Given the description of an element on the screen output the (x, y) to click on. 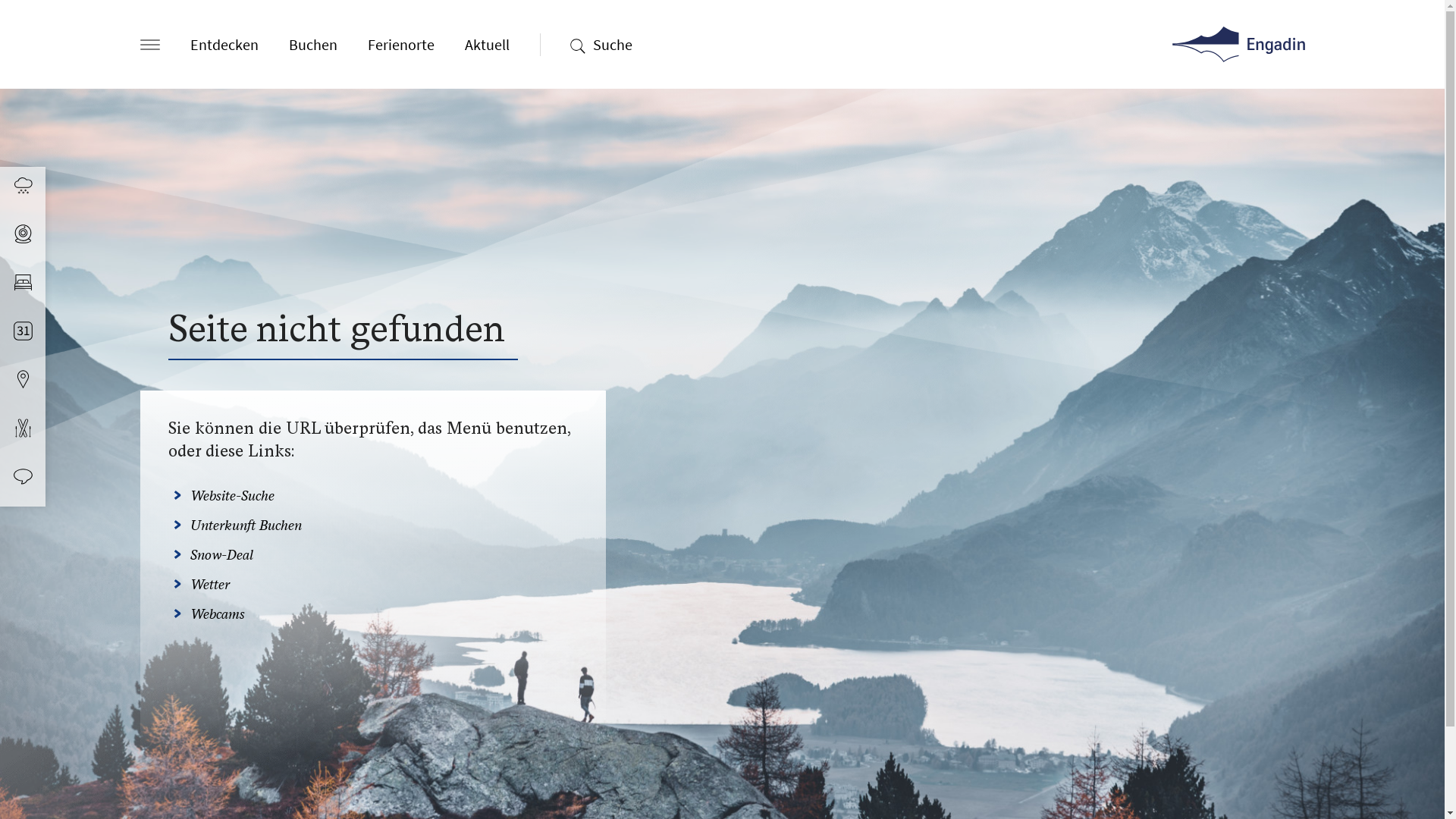
Website-Suche Element type: text (231, 495)
Snow-Deal Element type: text (220, 554)
Buchen Element type: text (312, 44)
Aktuell Element type: text (486, 44)
Engadin - Ein Tal zum verlieben Element type: hover (1238, 44)
Webcams Element type: text (216, 613)
Entdecken Element type: text (223, 44)
Ferienorte Element type: text (400, 44)
Wetter Element type: text (209, 584)
Unterkunft Buchen Element type: text (245, 525)
Suche Element type: text (612, 44)
